Given the description of an element on the screen output the (x, y) to click on. 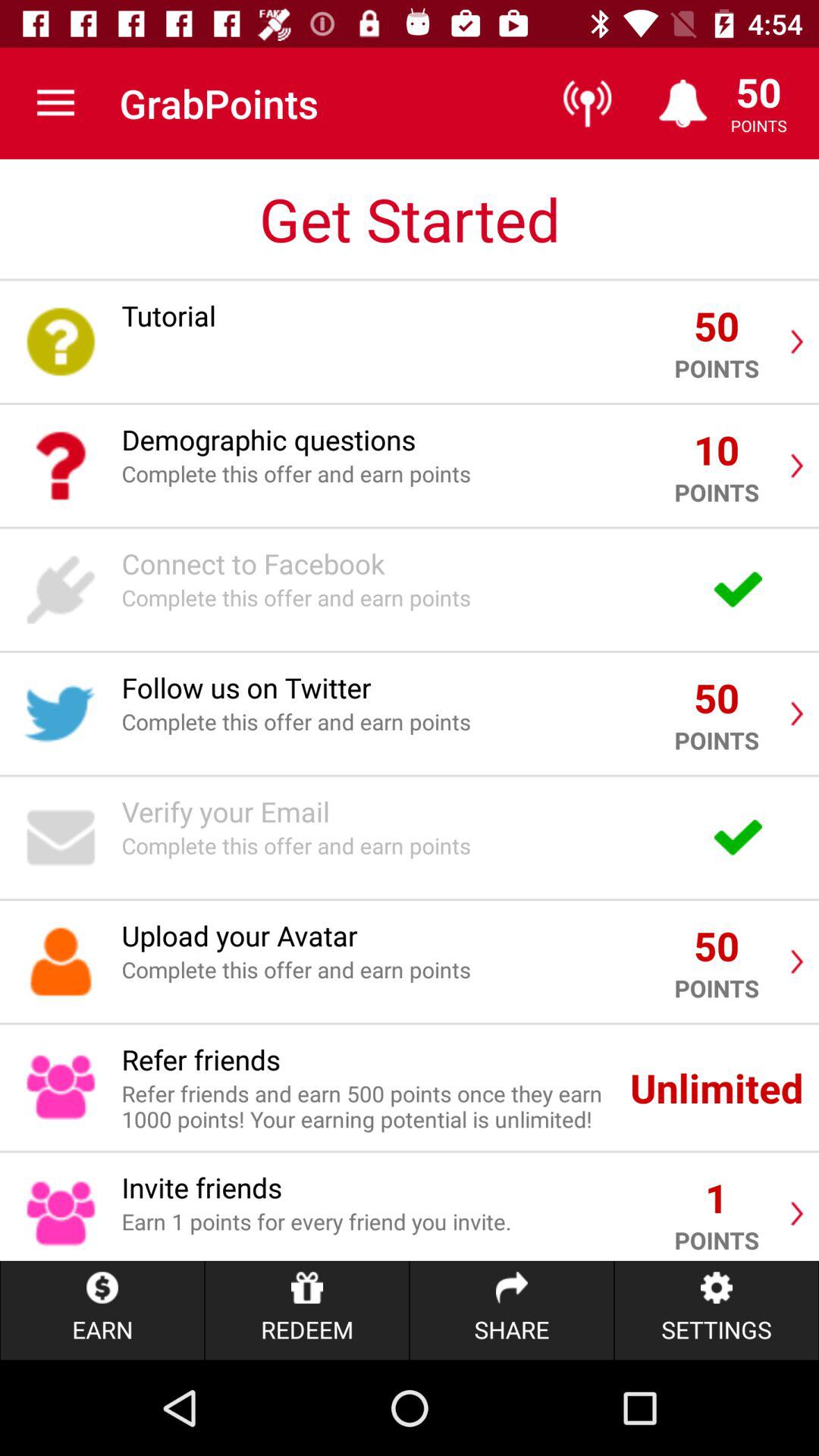
press item below earn 1 points (306, 1310)
